Given the description of an element on the screen output the (x, y) to click on. 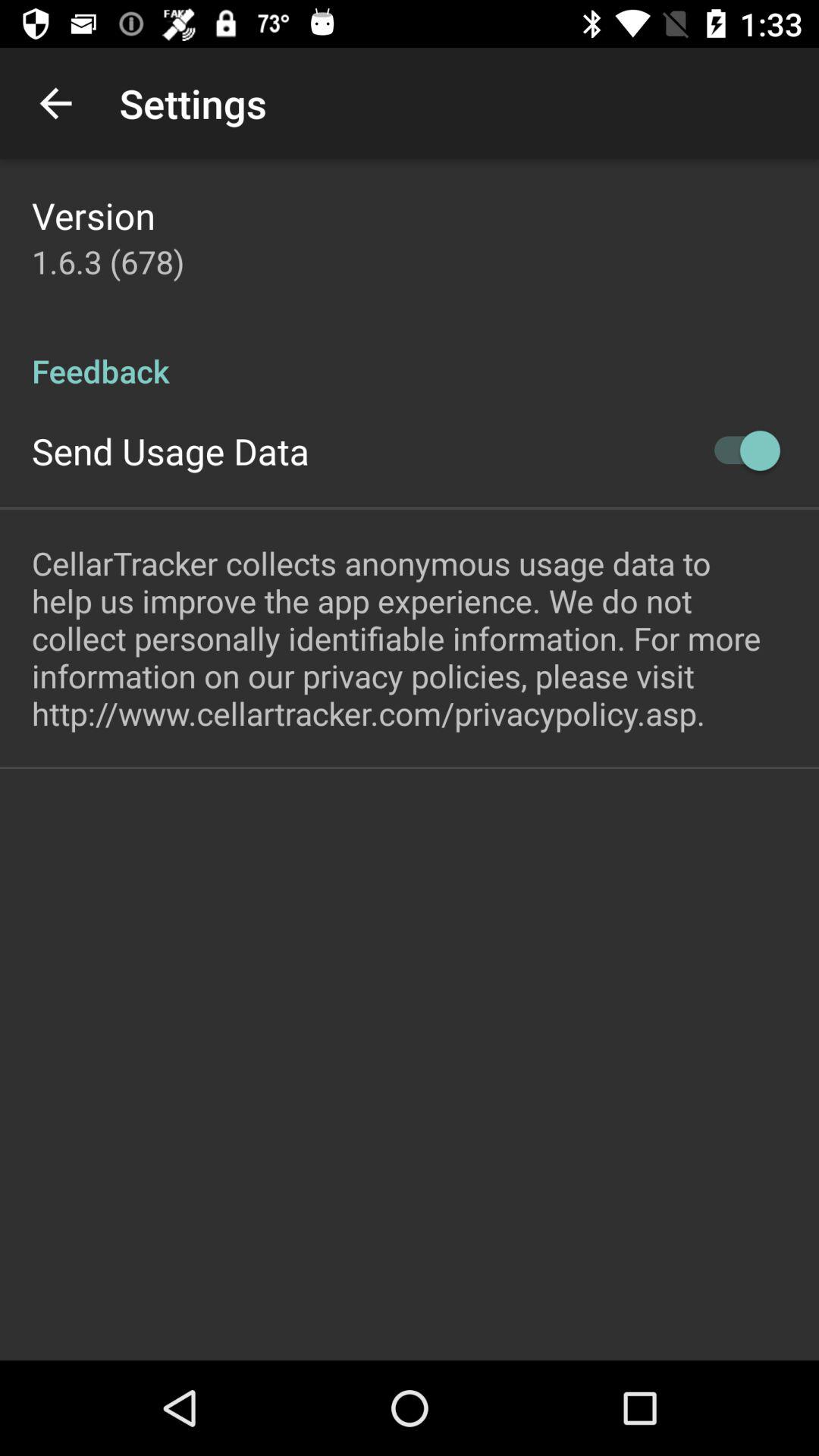
click icon below feedback item (739, 450)
